Given the description of an element on the screen output the (x, y) to click on. 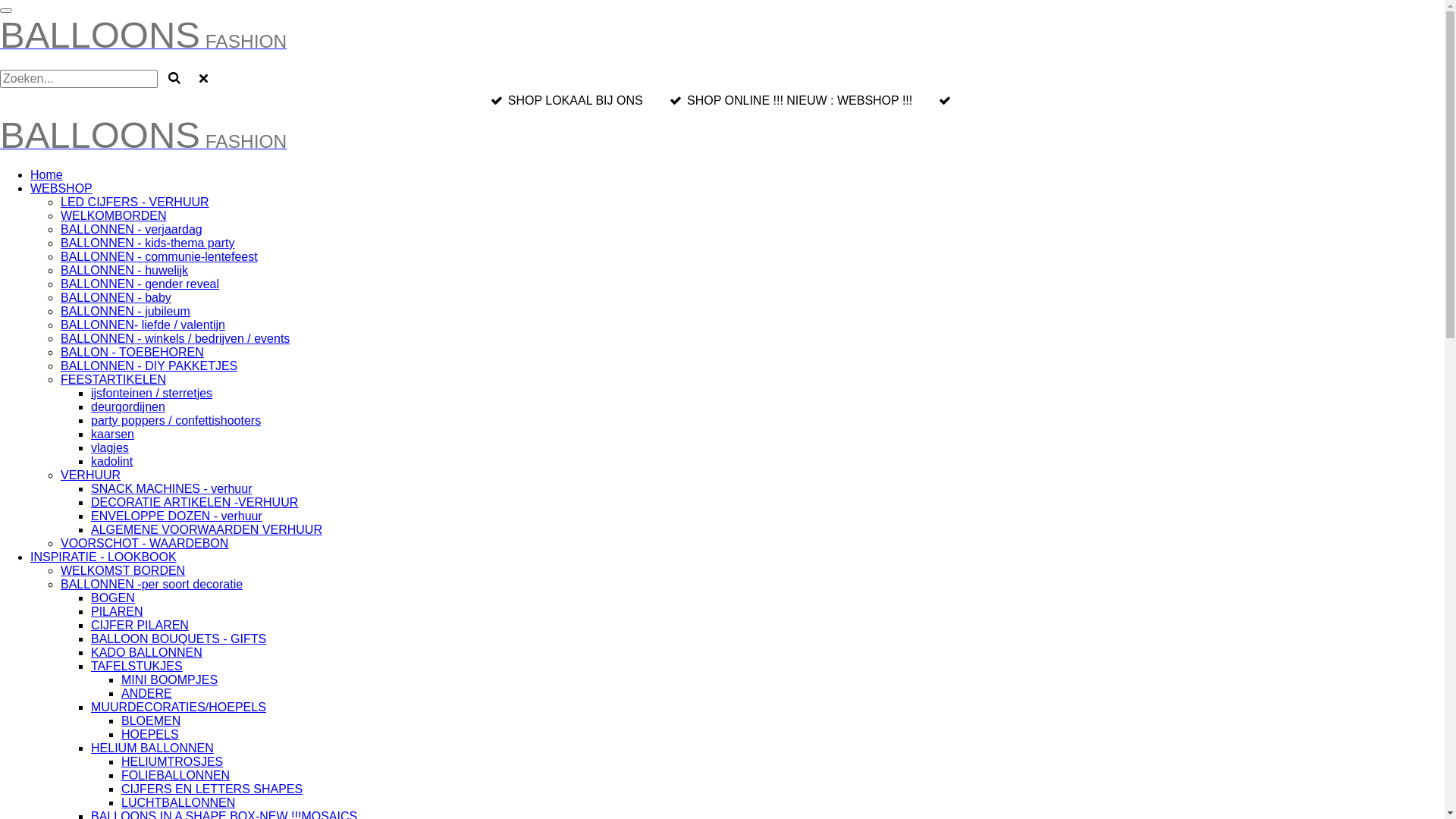
LUCHTBALLONNEN Element type: text (178, 802)
kaarsen Element type: text (112, 433)
CIJFER PILAREN Element type: text (139, 624)
ANDERE Element type: text (146, 693)
BALLON - TOEBEHOREN Element type: text (131, 351)
BALLONNEN - verjaardag Element type: text (131, 228)
WELKOMBORDEN Element type: text (113, 215)
kadolint Element type: text (111, 461)
BALLONNEN - DIY PAKKETJES Element type: text (148, 365)
vlagjes Element type: text (109, 447)
MUURDECORATIES/HOEPELS Element type: text (178, 706)
deurgordijnen Element type: text (128, 406)
ENVELOPPE DOZEN - verhuur Element type: text (176, 515)
WEBSHOP Element type: text (61, 188)
BALLONNEN - kids-thema party Element type: text (147, 242)
BOGEN Element type: text (112, 597)
SNACK MACHINES - verhuur Element type: text (171, 488)
KADO BALLONNEN Element type: text (146, 652)
VERHUUR Element type: text (90, 474)
MINI BOOMPJES Element type: text (169, 679)
BALLONNEN - gender reveal Element type: text (139, 283)
BALLONNEN- liefde / valentijn Element type: text (142, 324)
CIJFERS EN LETTERS SHAPES Element type: text (211, 788)
Home Element type: text (46, 174)
WELKOMST BORDEN Element type: text (122, 570)
FOLIEBALLONNEN Element type: text (175, 774)
HOEPELS Element type: text (149, 734)
ALGEMENE VOORWAARDEN VERHUUR Element type: text (206, 529)
HELIUM BALLONNEN Element type: text (152, 747)
INSPIRATIE - LOOKBOOK Element type: text (103, 556)
BALLONNEN - baby Element type: text (115, 297)
VOORSCHOT - WAARDEBON Element type: text (144, 542)
BALLOONS FASHION Element type: text (143, 143)
BALLOON BOUQUETS - GIFTS Element type: text (178, 638)
BALLONNEN - huwelijk Element type: text (124, 269)
HELIUMTROSJES Element type: text (171, 761)
ijsfonteinen / sterretjes Element type: text (151, 392)
party poppers / confettishooters Element type: text (175, 420)
BALLONNEN - communie-lentefeest Element type: text (158, 256)
TAFELSTUKJES Element type: text (136, 665)
FEESTARTIKELEN Element type: text (113, 379)
DECORATIE ARTIKELEN -VERHUUR Element type: text (194, 501)
BLOEMEN Element type: text (150, 720)
LED CIJFERS - VERHUUR Element type: text (134, 201)
BALLONNEN - jubileum Element type: text (125, 310)
PILAREN Element type: text (116, 611)
BALLOONS FASHION Element type: text (143, 43)
BALLONNEN - winkels / bedrijven / events Element type: text (174, 338)
BALLONNEN -per soort decoratie Element type: text (151, 583)
